Given the description of an element on the screen output the (x, y) to click on. 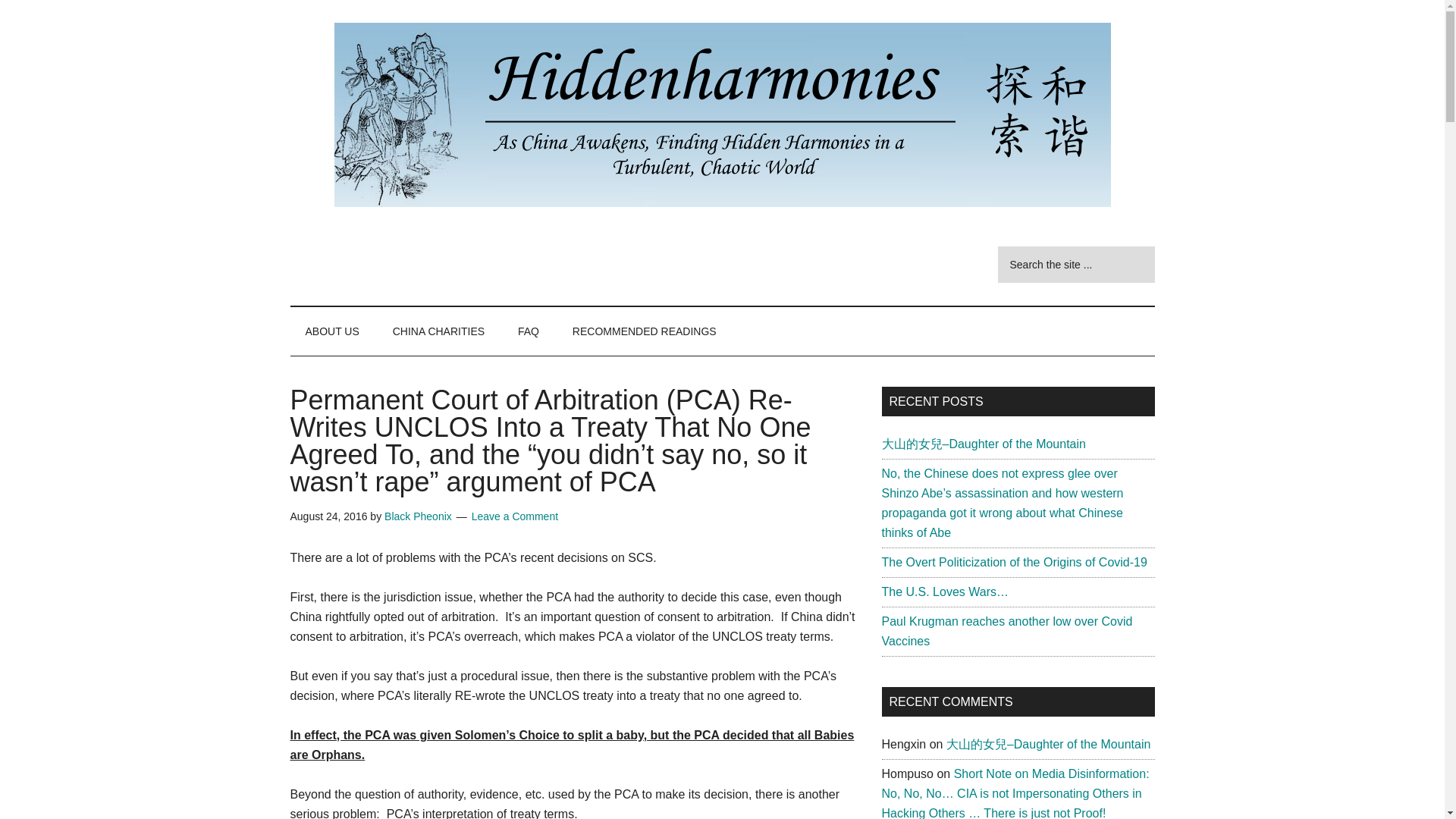
RECOMMENDED READINGS (644, 331)
Paul Krugman reaches another low over Covid Vaccines (1006, 631)
The Overt Politicization of the Origins of Covid-19 (1013, 562)
CHINA CHARITIES (438, 331)
ABOUT US (331, 331)
Leave a Comment (514, 516)
